Given the description of an element on the screen output the (x, y) to click on. 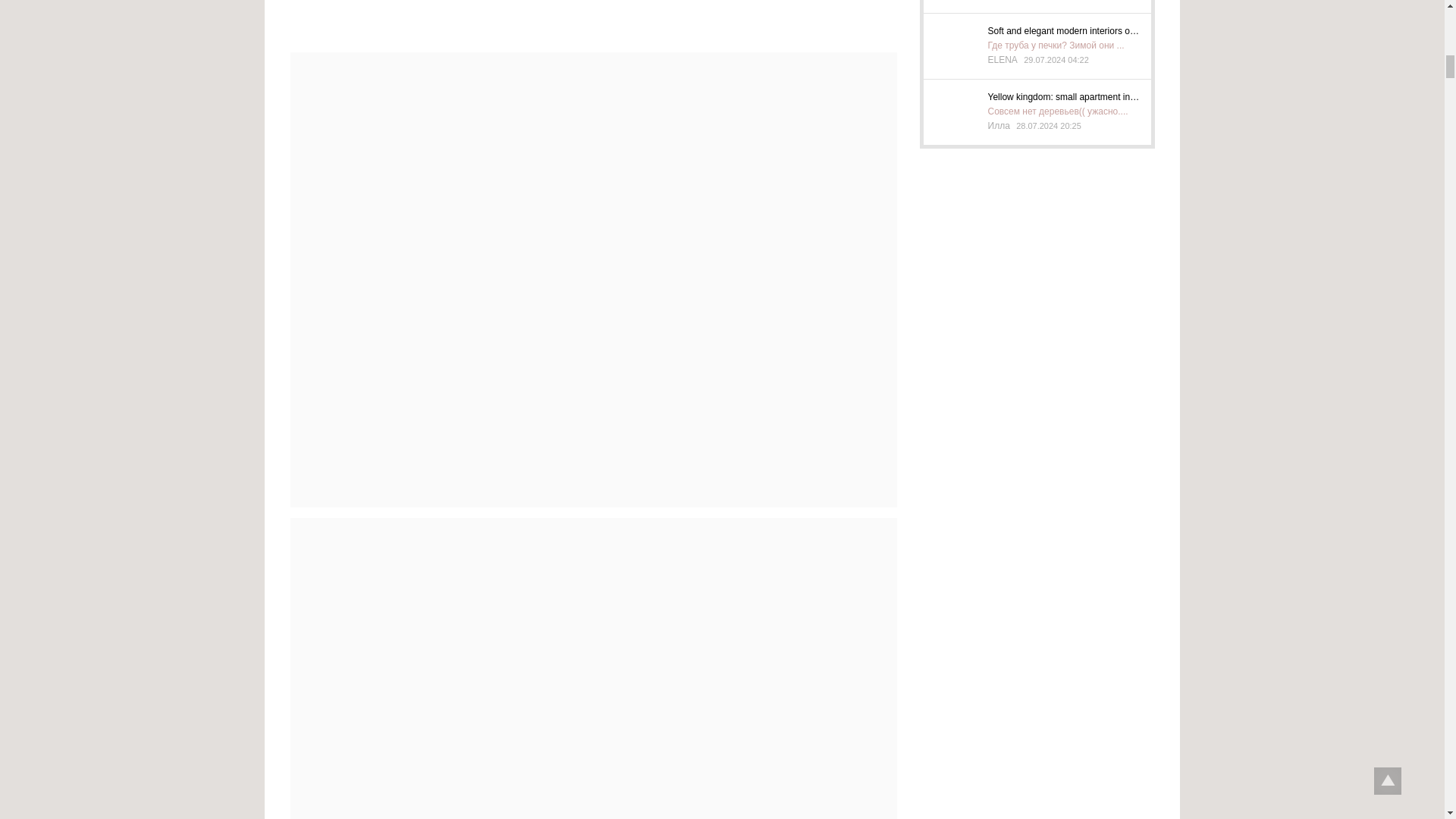
Advertisement (593, 20)
